Given the description of an element on the screen output the (x, y) to click on. 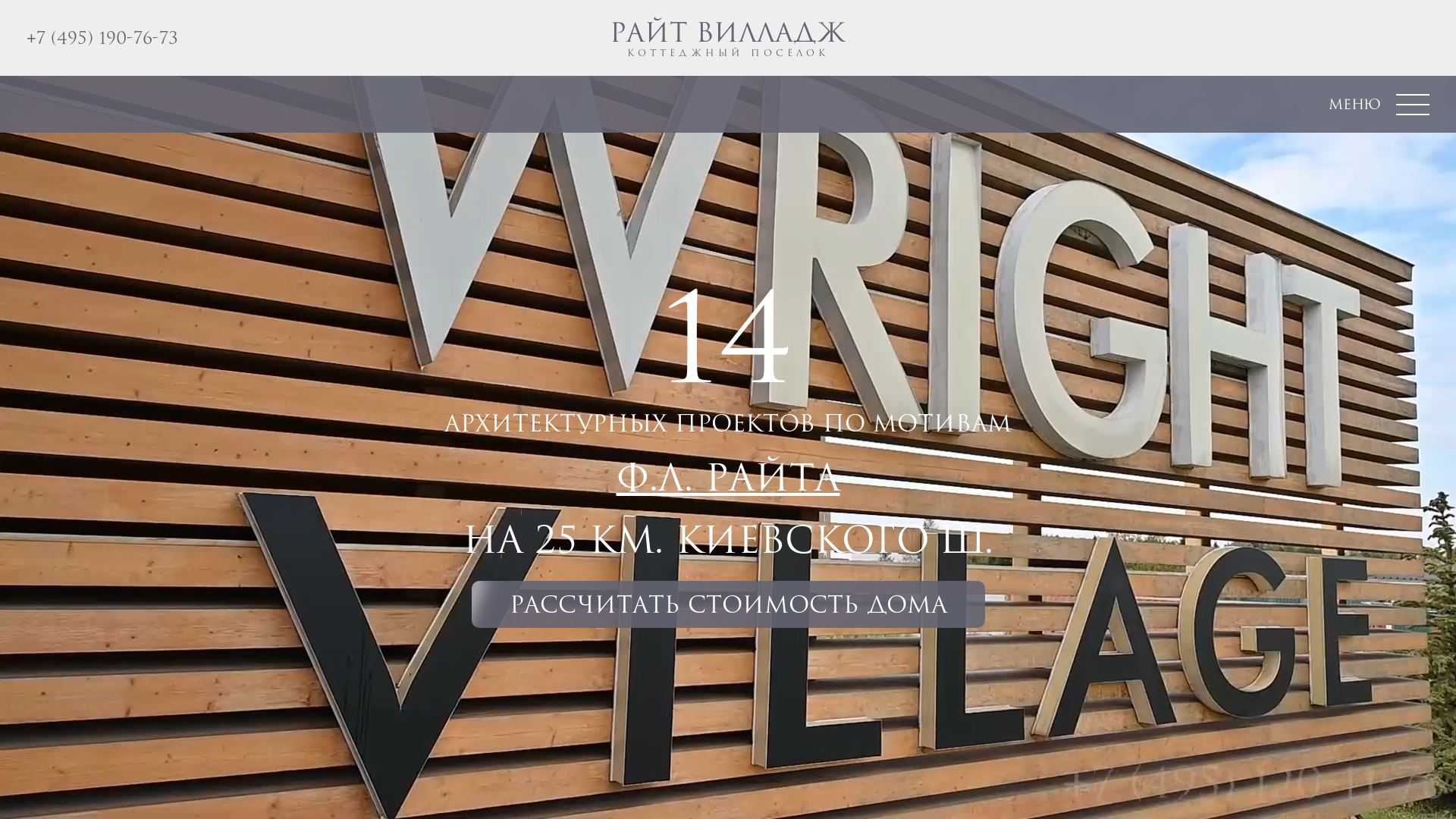
+7 (495) 190-76-73 Element type: text (102, 37)
